Given the description of an element on the screen output the (x, y) to click on. 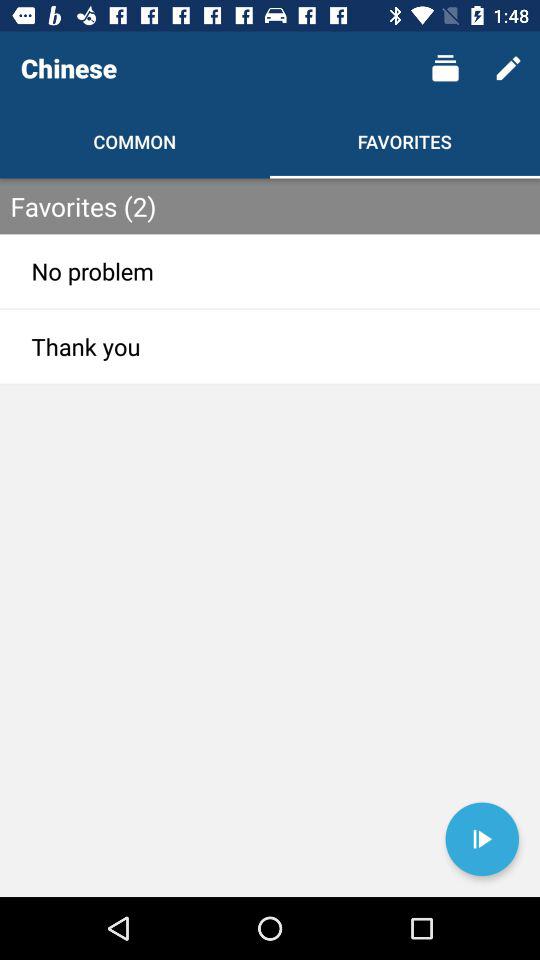
go forward (482, 839)
